Given the description of an element on the screen output the (x, y) to click on. 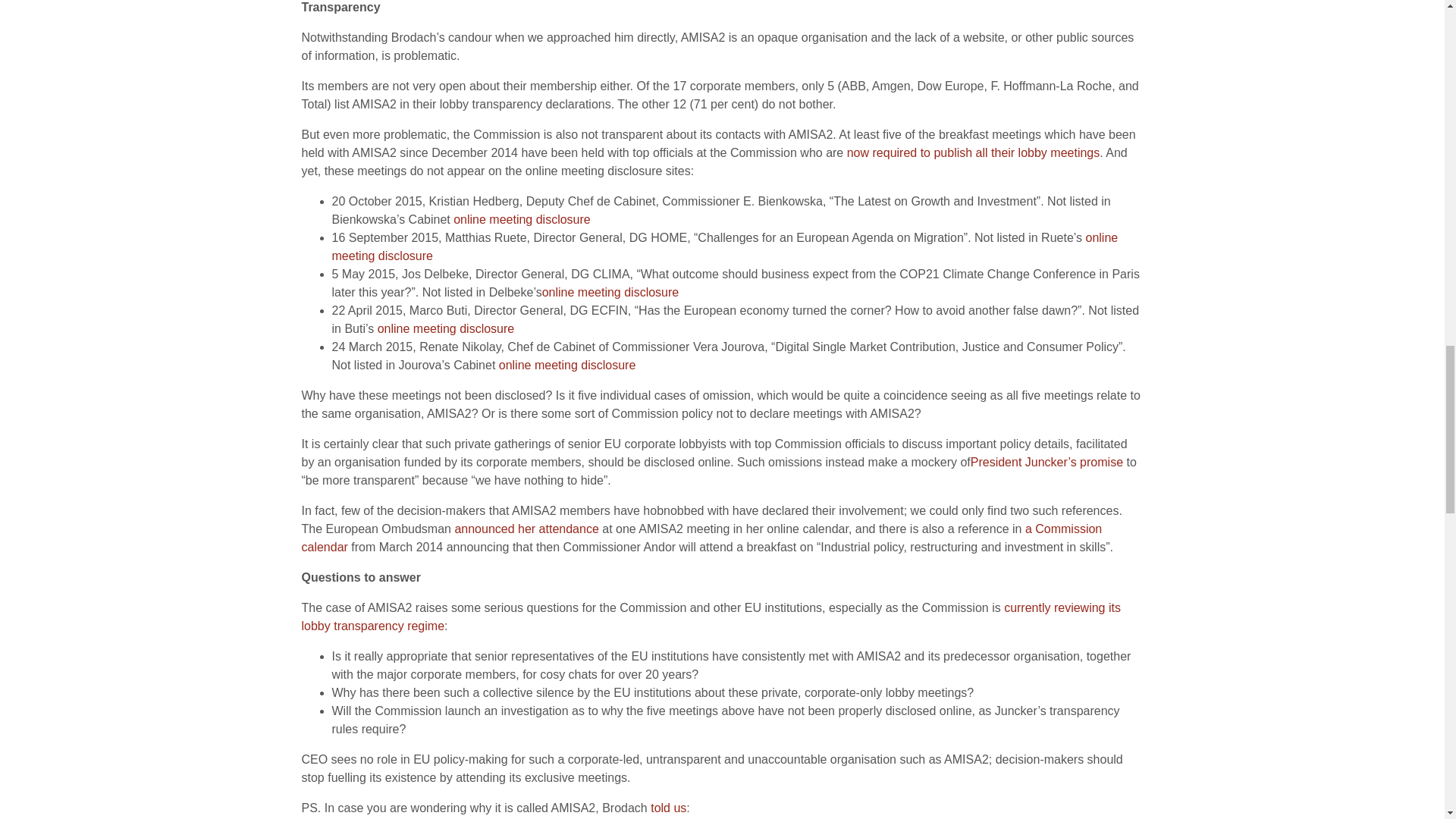
now required to (890, 152)
publish all their lobby meetings (1016, 152)
